Given the description of an element on the screen output the (x, y) to click on. 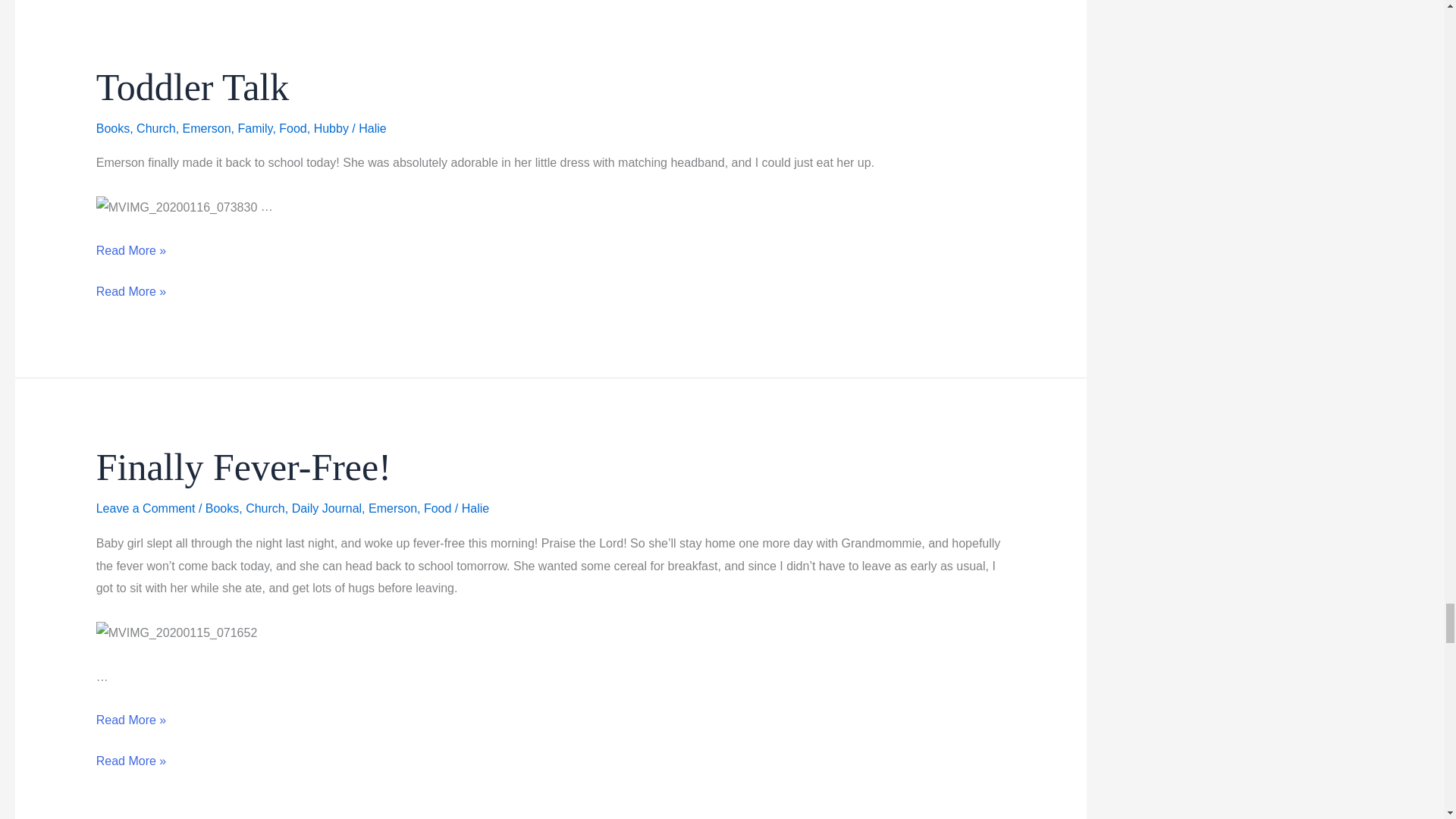
View all posts by Halie (371, 128)
